Given the description of an element on the screen output the (x, y) to click on. 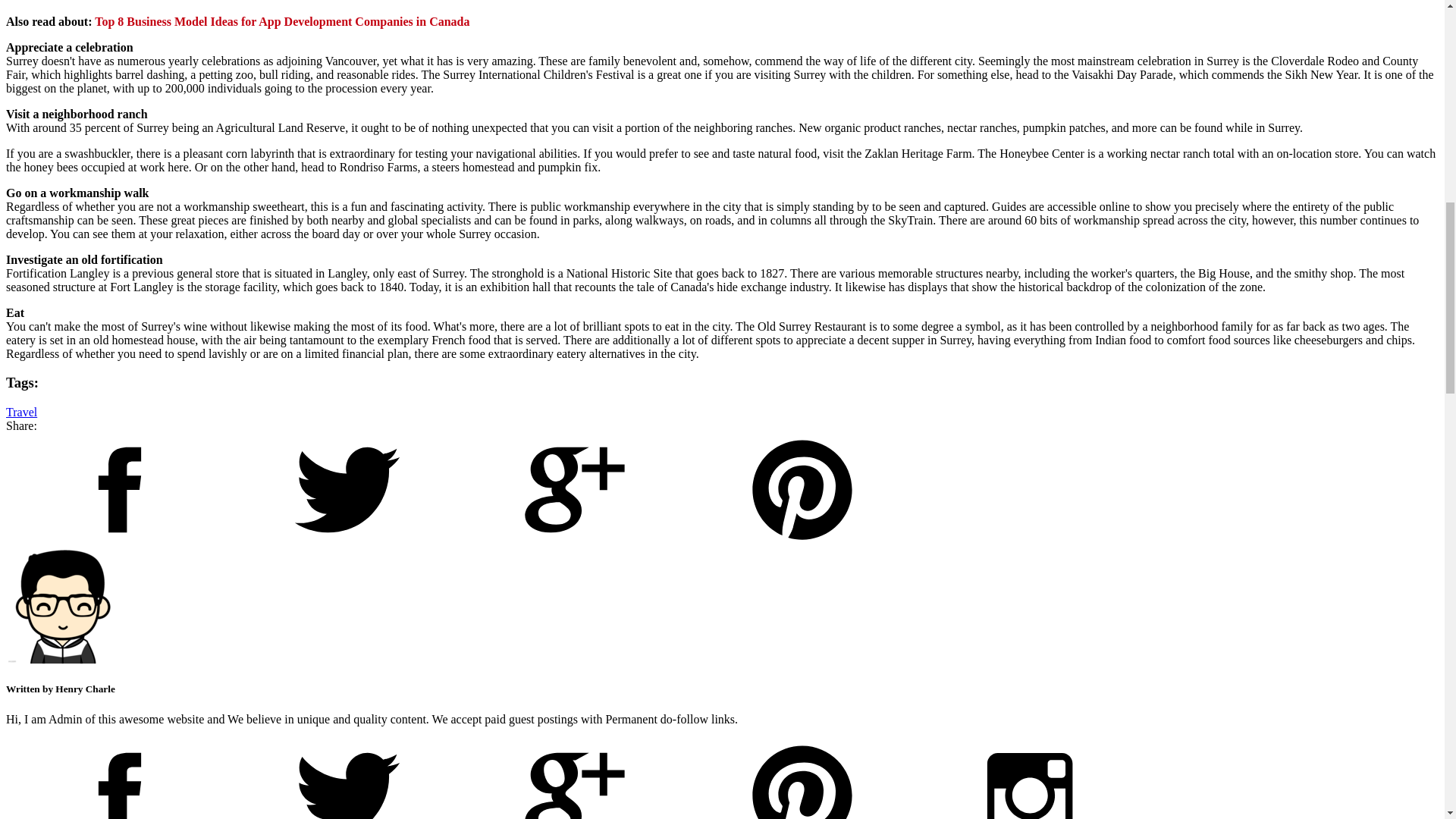
Travel (21, 411)
Henry Charle author (62, 606)
